Given the description of an element on the screen output the (x, y) to click on. 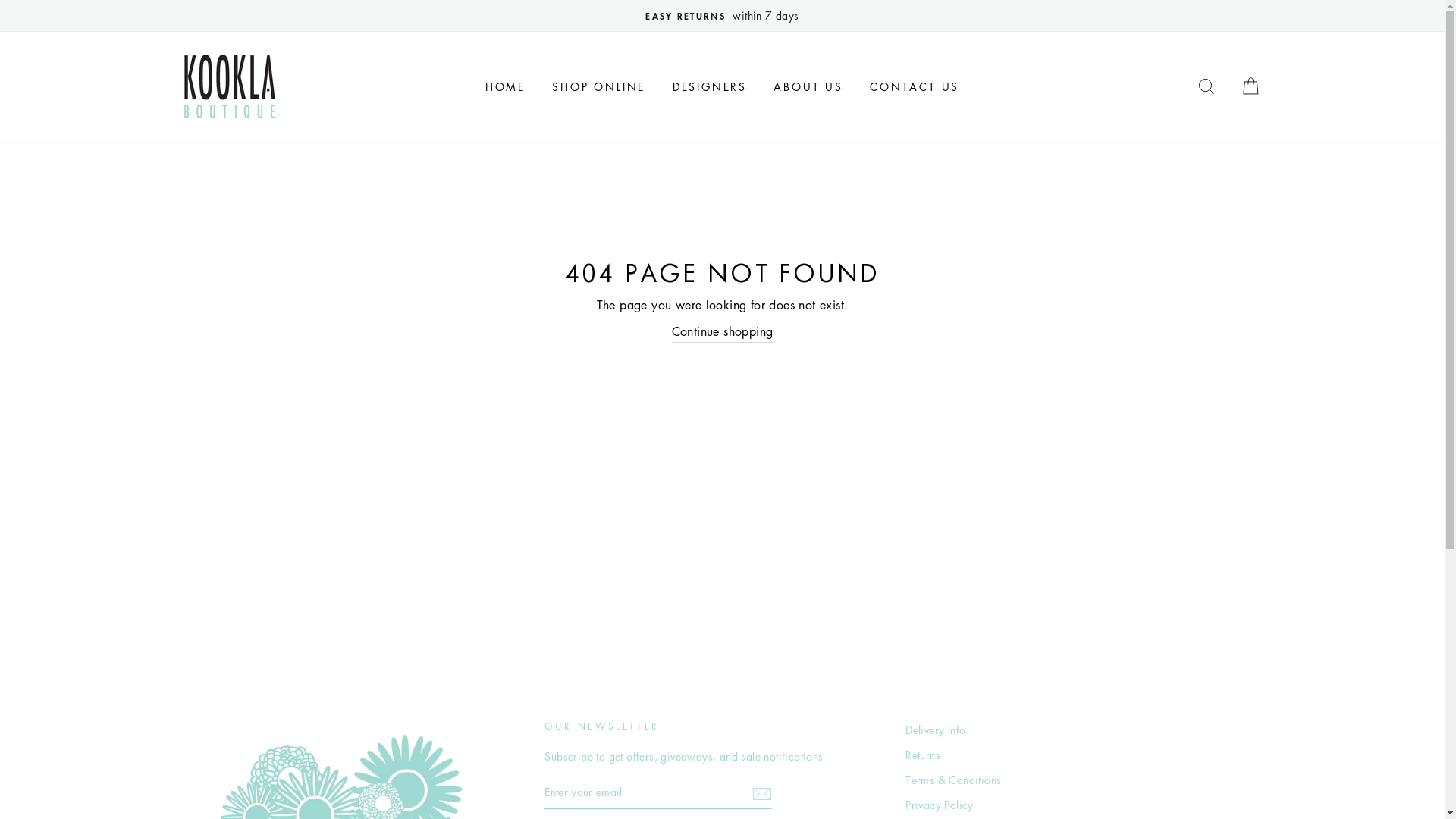
SHOP ONLINE Element type: text (598, 86)
Skip to content Element type: text (0, 0)
Delivery Info Element type: text (935, 729)
SEARCH Element type: text (1206, 86)
Continue shopping Element type: text (722, 332)
Returns Element type: text (922, 754)
Terms & Conditions Element type: text (953, 779)
ABOUT US Element type: text (807, 86)
CART Element type: text (1249, 86)
Privacy Policy Element type: text (939, 804)
DESIGNERS Element type: text (709, 86)
HOME Element type: text (504, 86)
CONTACT US Element type: text (914, 86)
